Given the description of an element on the screen output the (x, y) to click on. 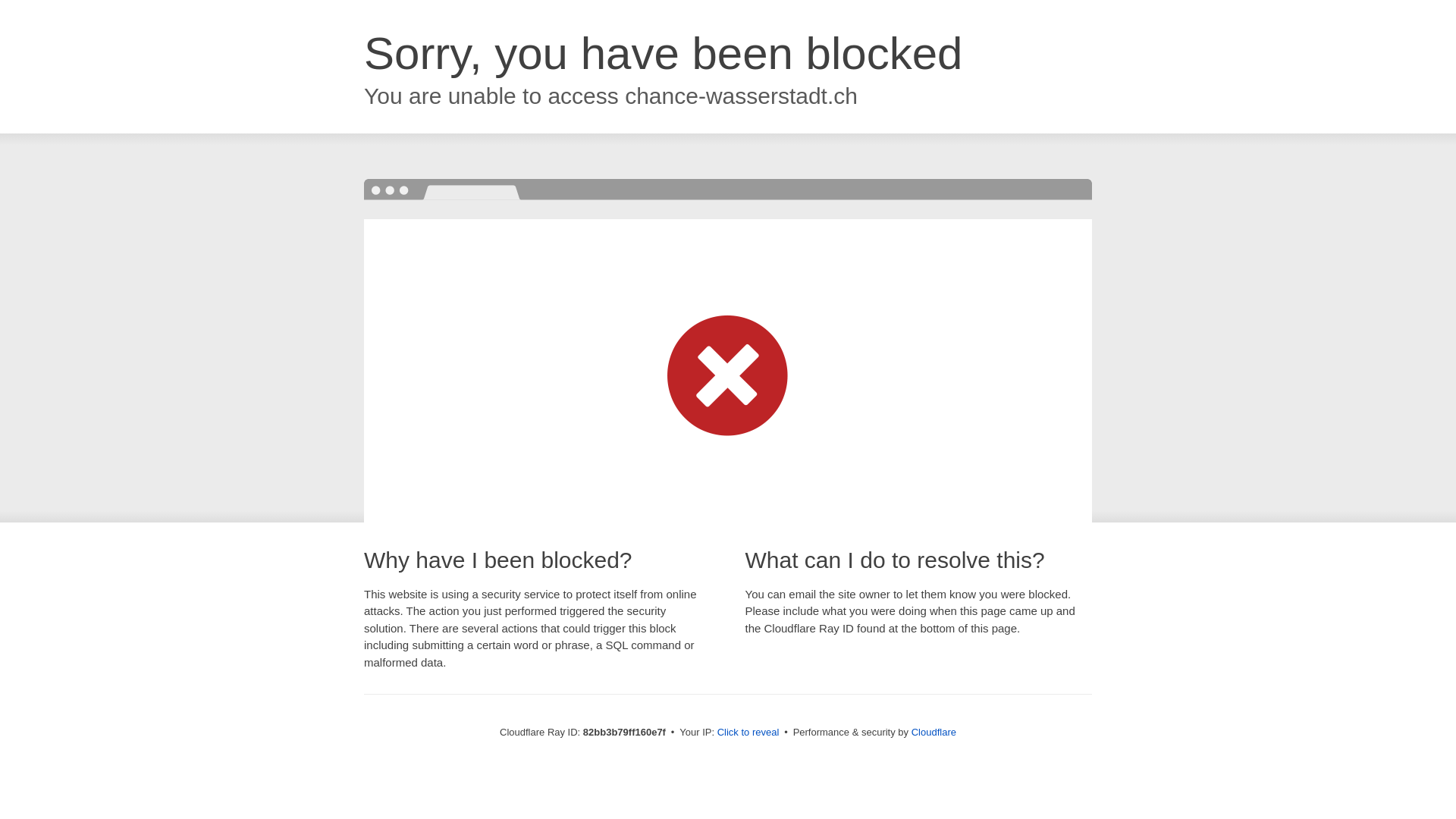
Cloudflare Element type: text (933, 731)
Click to reveal Element type: text (748, 732)
